Given the description of an element on the screen output the (x, y) to click on. 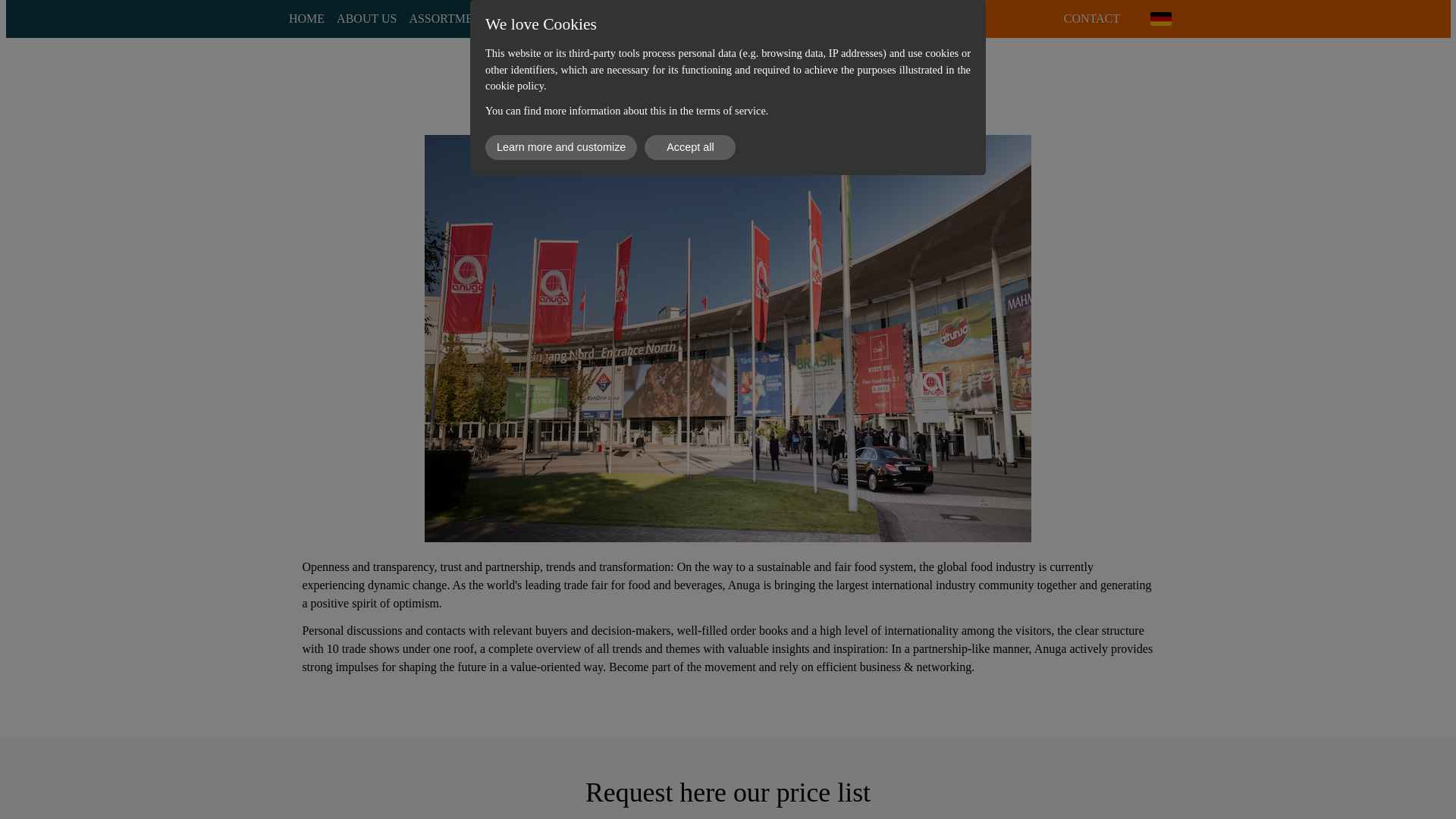
CONTACT (1091, 18)
NEWS (518, 18)
ABOUT US (366, 18)
ASSORTMENT (448, 18)
HOME (306, 18)
